Given the description of an element on the screen output the (x, y) to click on. 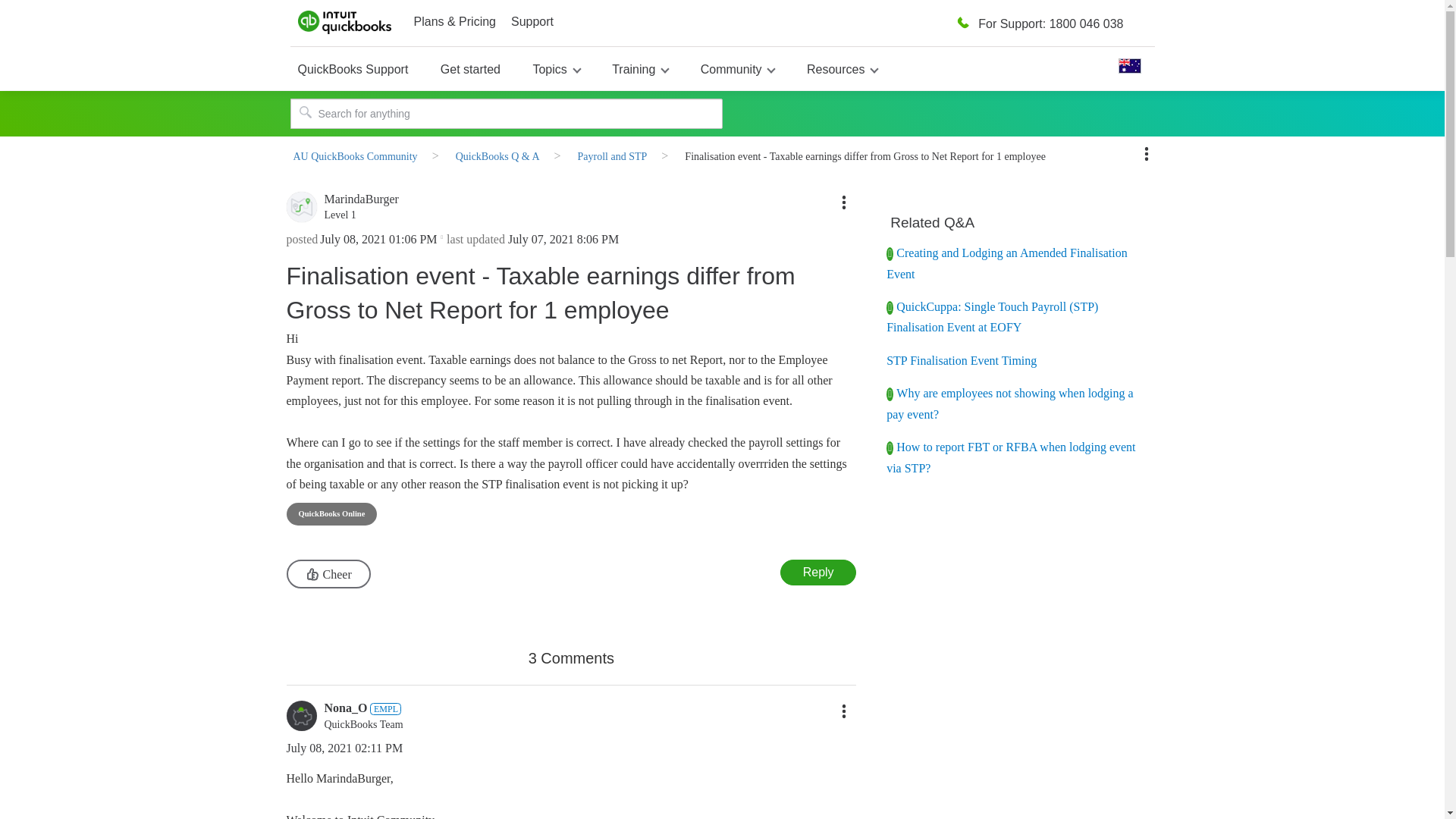
The total number of cheers this post has received (379, 569)
Show option menu (843, 710)
Posted on (378, 239)
QuickBooks Team (385, 708)
Resources   (841, 68)
Training   (639, 68)
Topics   (555, 68)
Posted on (500, 748)
Show option menu (843, 202)
MarindaBurger (301, 206)
